Given the description of an element on the screen output the (x, y) to click on. 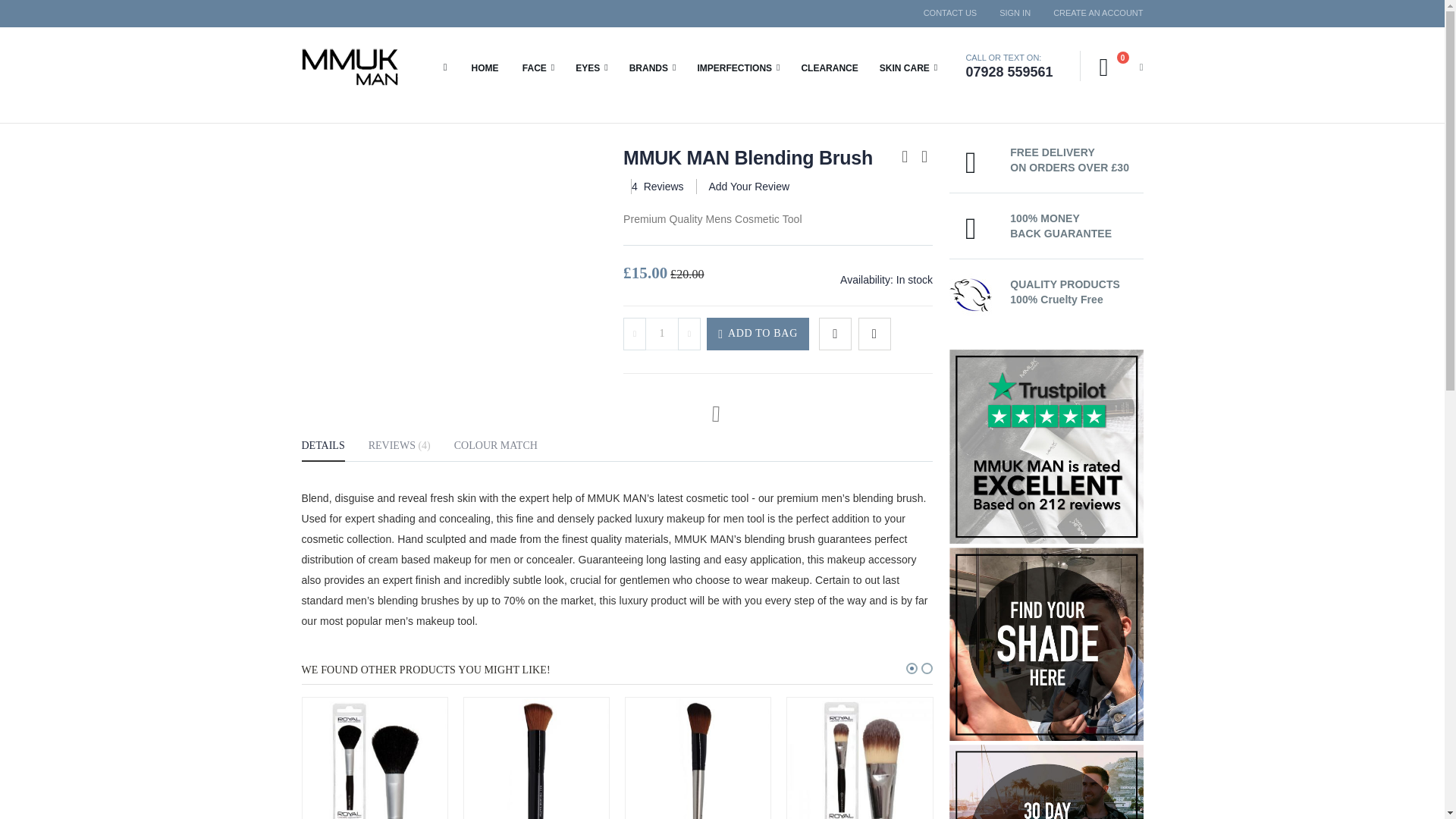
CREATE AN ACCOUNT (1120, 67)
Eyes (1092, 12)
CONTACT US (590, 67)
SIGN IN (950, 12)
EYES (1015, 12)
FACE (590, 67)
Face (538, 67)
Mens Make-Up UK (538, 67)
1 (349, 66)
HOME (661, 333)
BRANDS (485, 67)
